Given the description of an element on the screen output the (x, y) to click on. 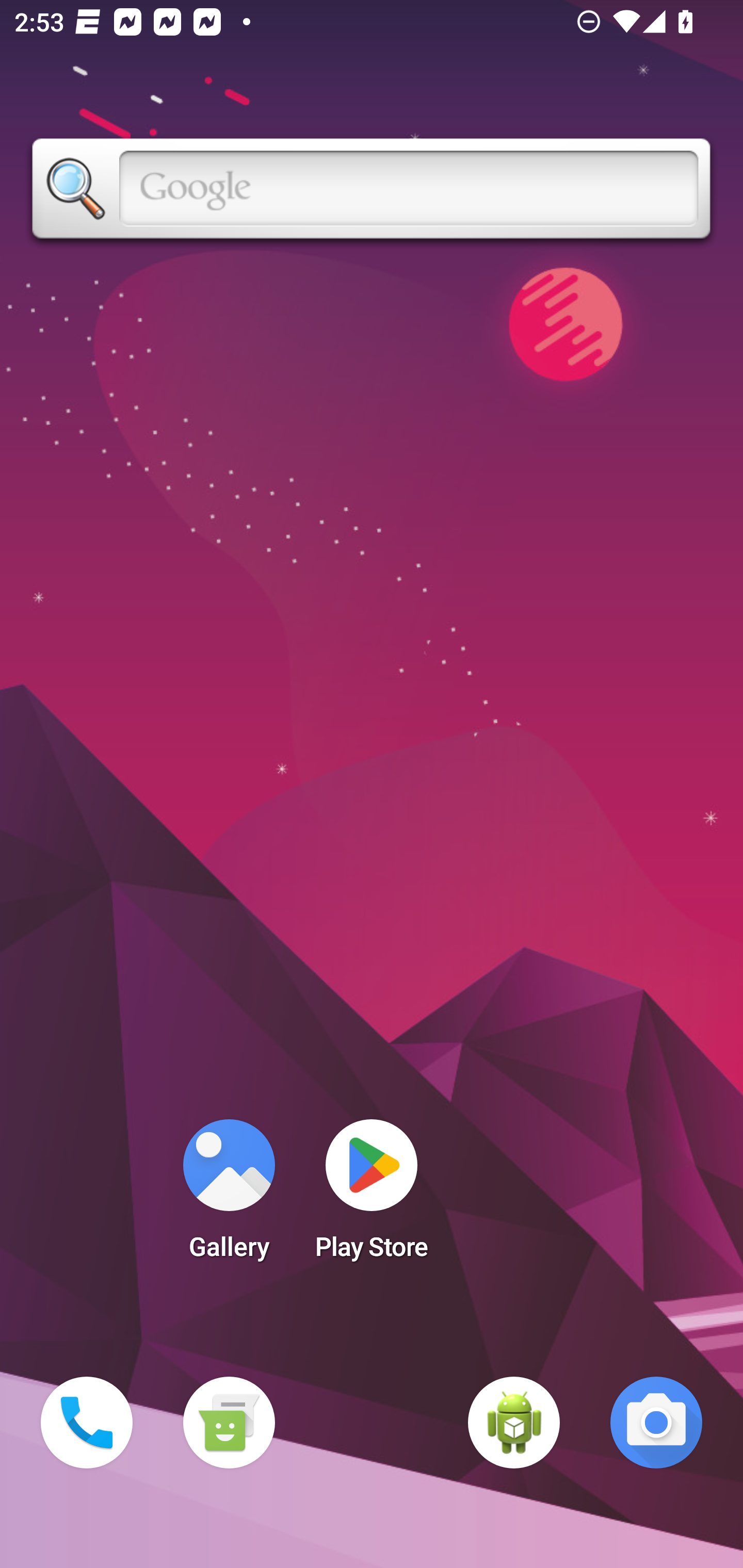
Gallery (228, 1195)
Play Store (371, 1195)
Phone (86, 1422)
Messaging (228, 1422)
WebView Browser Tester (513, 1422)
Camera (656, 1422)
